Given the description of an element on the screen output the (x, y) to click on. 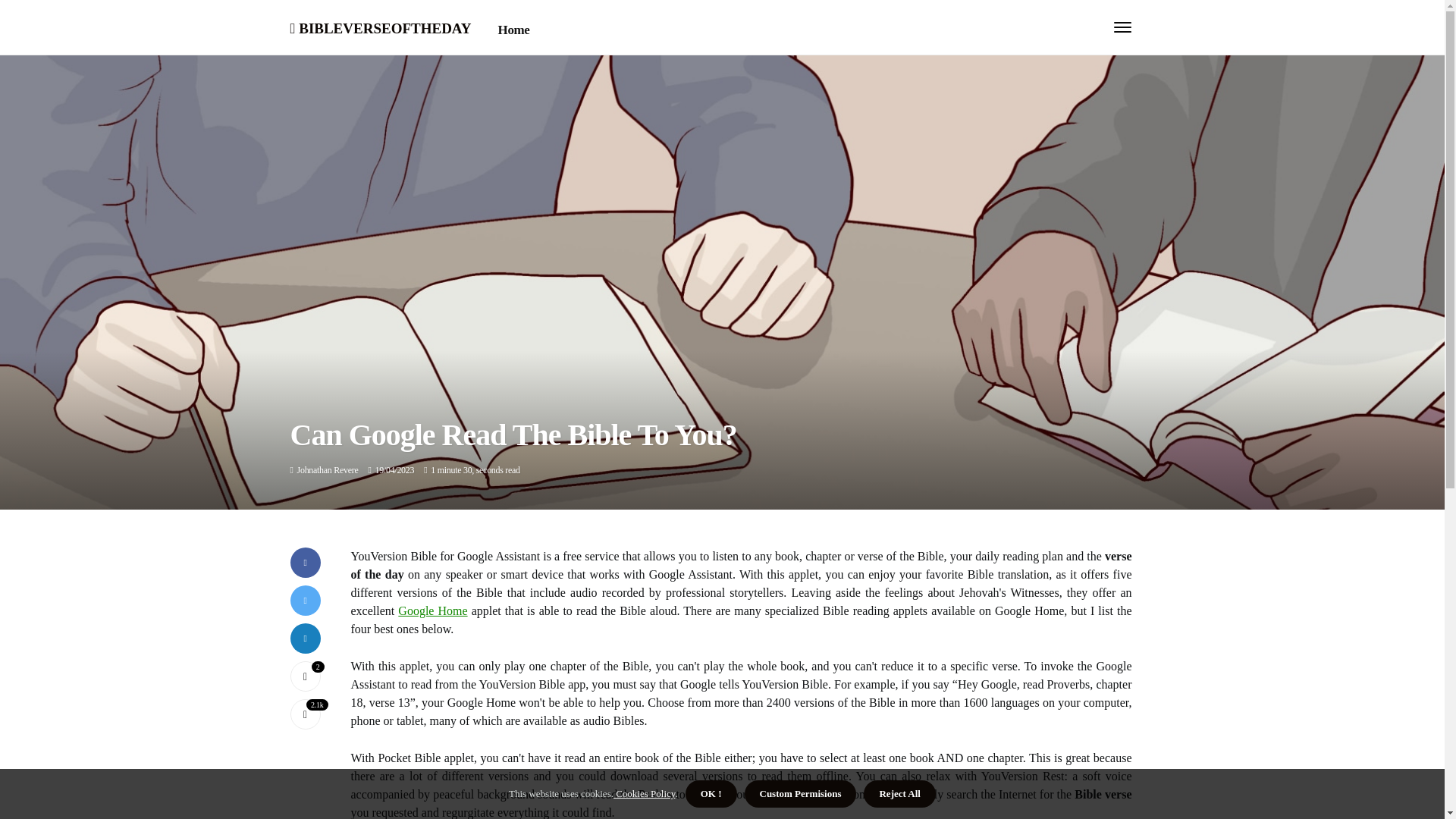
Posts by Johnathan Revere (327, 470)
2 (304, 675)
bibleverseoftheday (379, 26)
Johnathan Revere (327, 470)
Like (304, 675)
Google Home (432, 610)
